Given the description of an element on the screen output the (x, y) to click on. 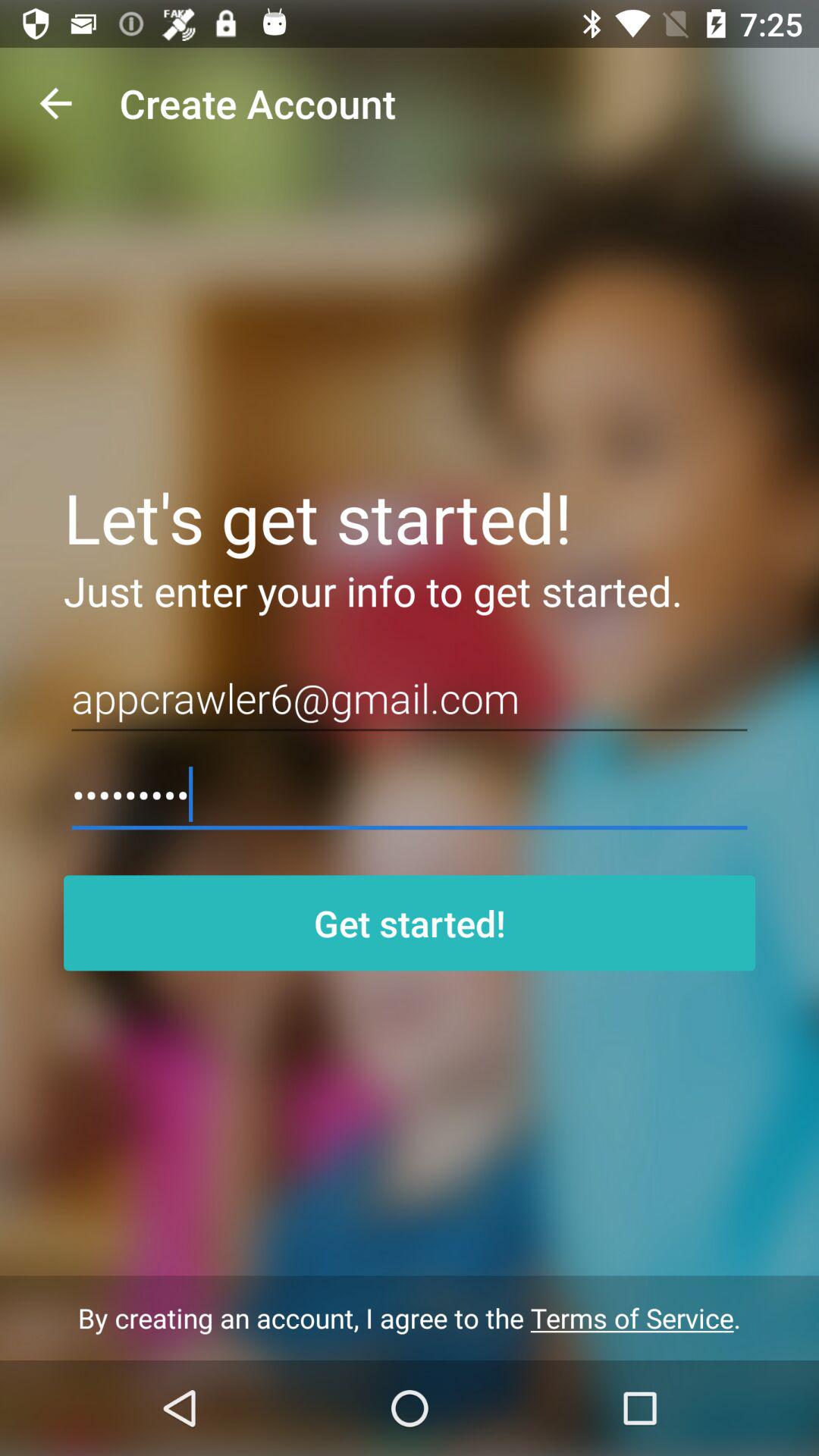
flip to by creating an (409, 1317)
